Given the description of an element on the screen output the (x, y) to click on. 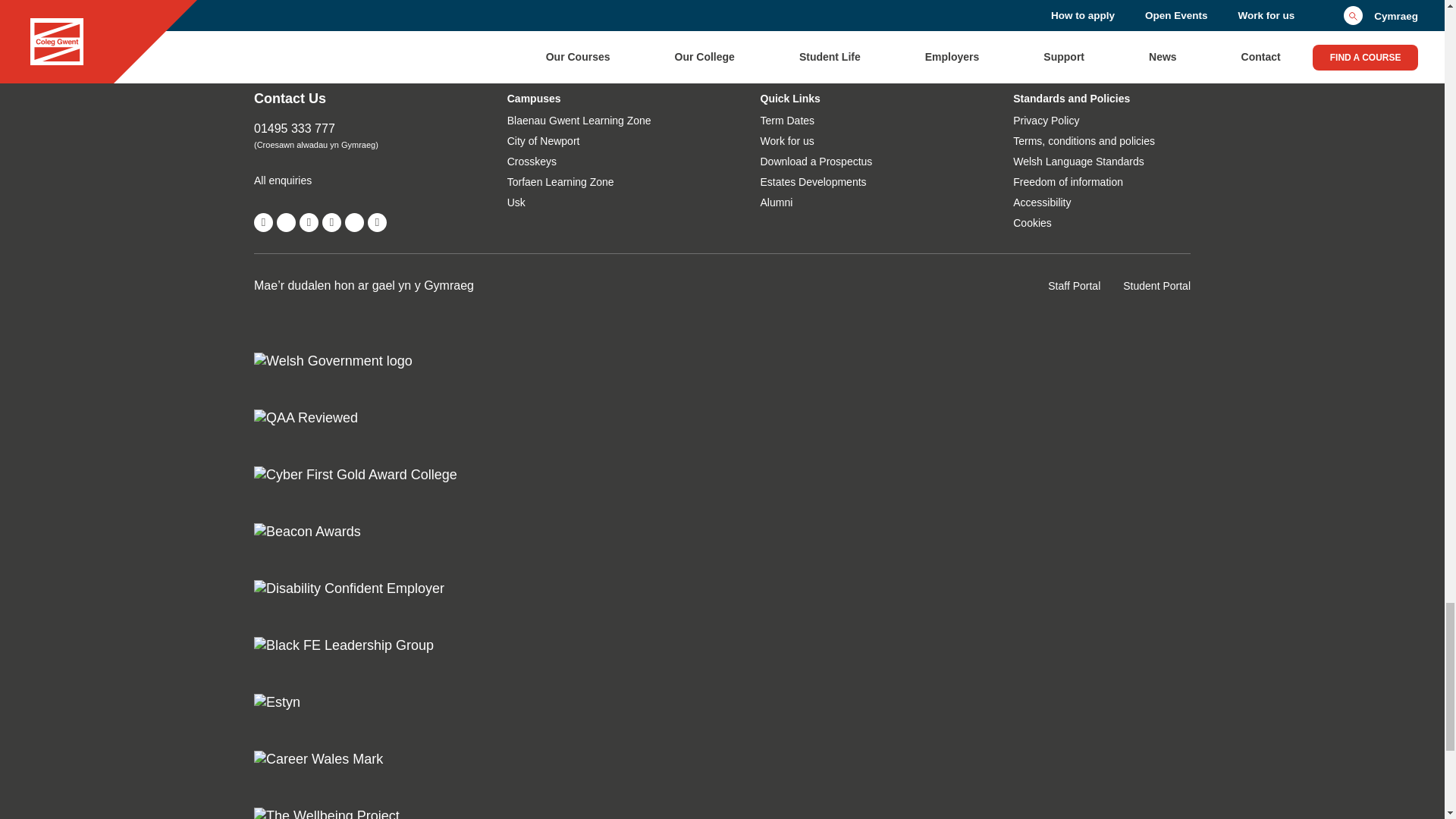
Call us on 01495 333 777 (341, 128)
Find us on YouTube (308, 221)
Find us on Twitter (285, 221)
Find us on TikTok (354, 221)
Find us on Instagram (330, 221)
Find us on Facebook (263, 221)
Find us on LinkedIn (377, 221)
